Given the description of an element on the screen output the (x, y) to click on. 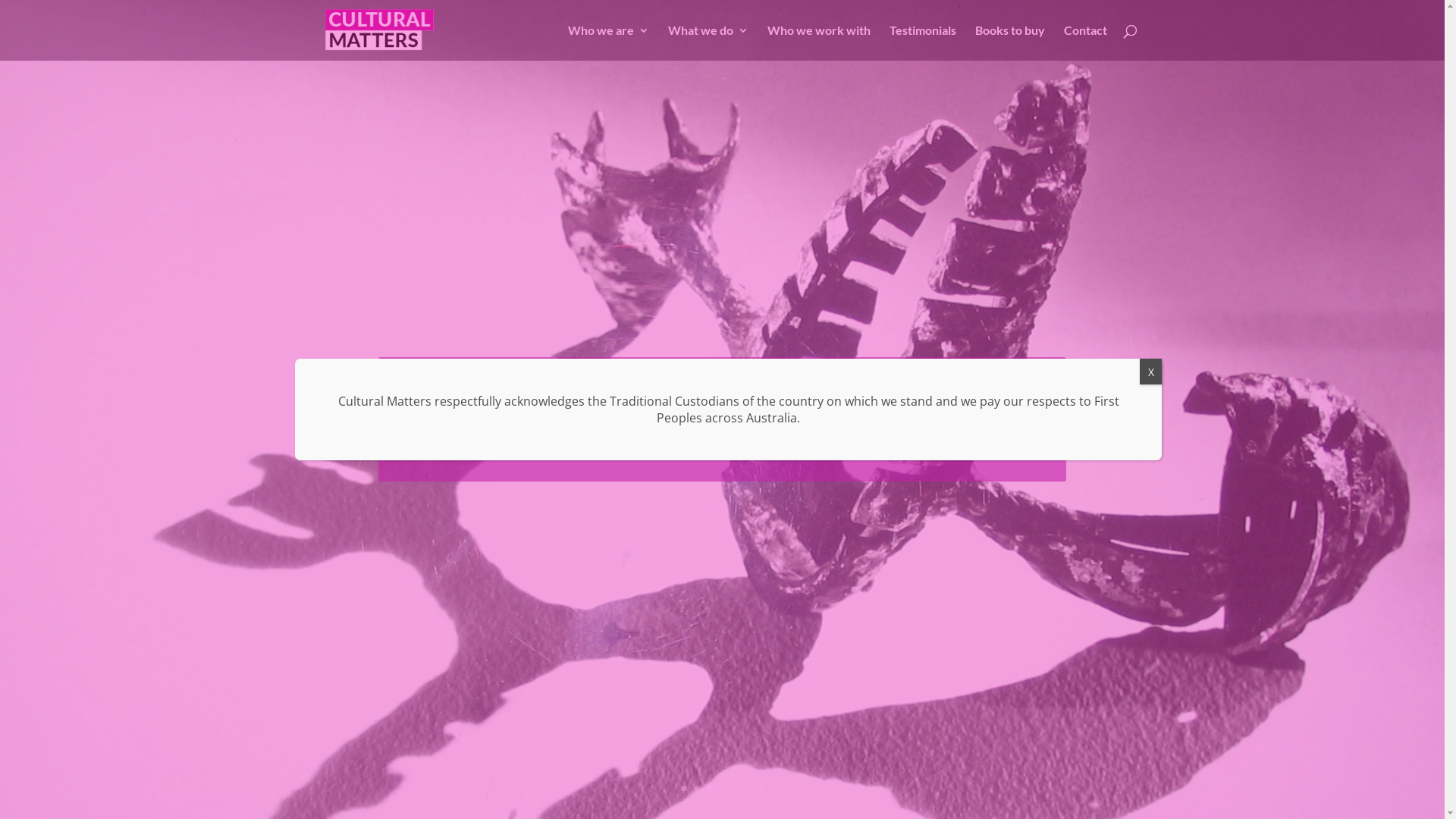
6 Element type: text (747, 787)
Testimonials Element type: text (922, 42)
Who we are Element type: text (608, 42)
4 Element type: text (721, 787)
5 Element type: text (734, 787)
Books to buy Element type: text (1009, 42)
Who we work with Element type: text (818, 42)
1 Element type: text (683, 787)
X Element type: text (1150, 371)
What we do Element type: text (708, 42)
3 Element type: text (709, 787)
7 Element type: text (760, 787)
2 Element type: text (696, 787)
Contact Element type: text (1085, 42)
